Given the description of an element on the screen output the (x, y) to click on. 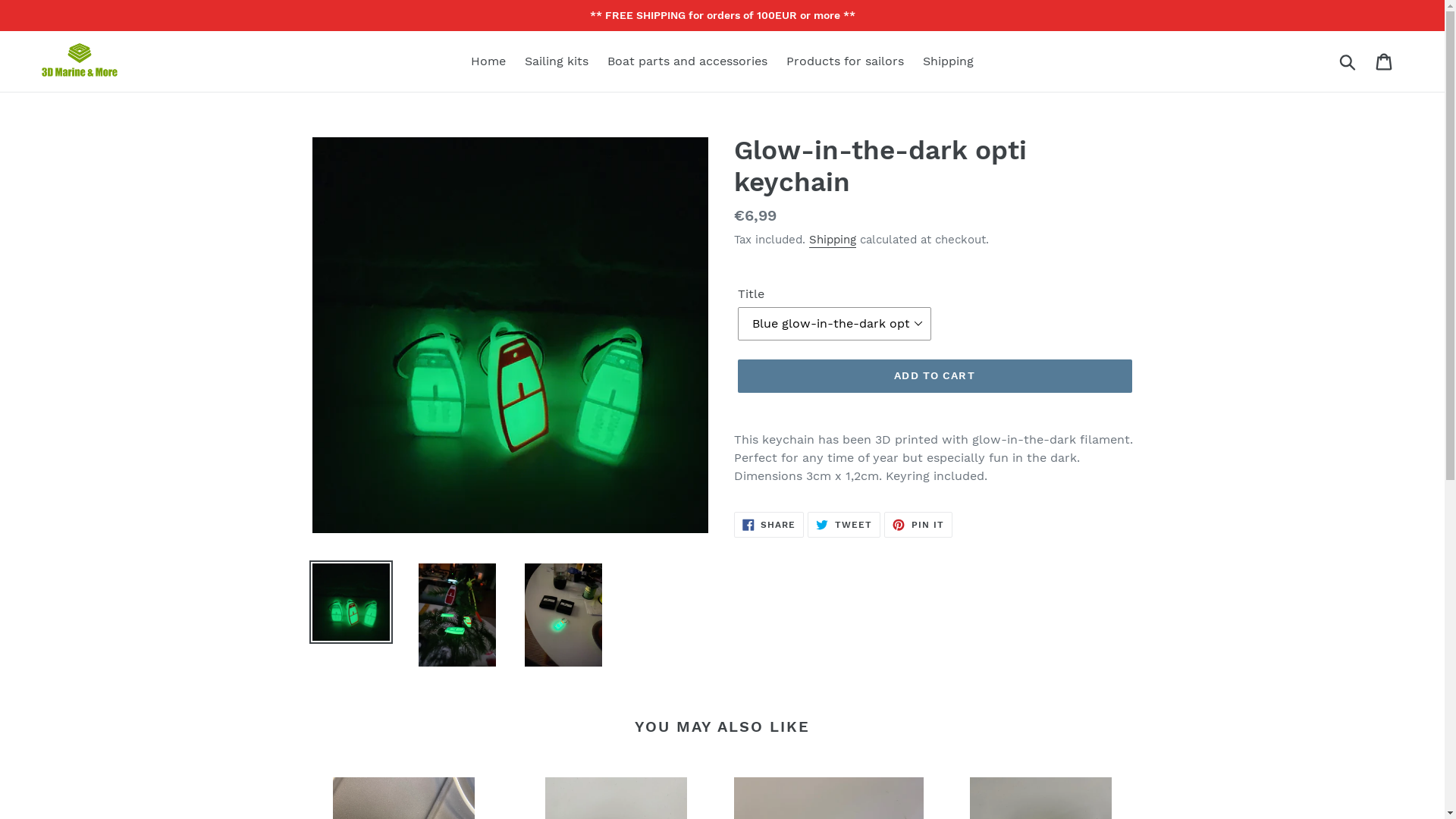
Shipping Element type: text (948, 61)
Submit Element type: text (1348, 61)
Shipping Element type: text (831, 239)
Home Element type: text (488, 61)
TWEET
TWEET ON TWITTER Element type: text (843, 524)
PIN IT
PIN ON PINTEREST Element type: text (918, 524)
Sailing kits Element type: text (556, 61)
ADD TO CART Element type: text (934, 375)
Cart Element type: text (1384, 61)
Products for sailors Element type: text (844, 61)
Boat parts and accessories Element type: text (687, 61)
SHARE
SHARE ON FACEBOOK Element type: text (769, 524)
